Given the description of an element on the screen output the (x, y) to click on. 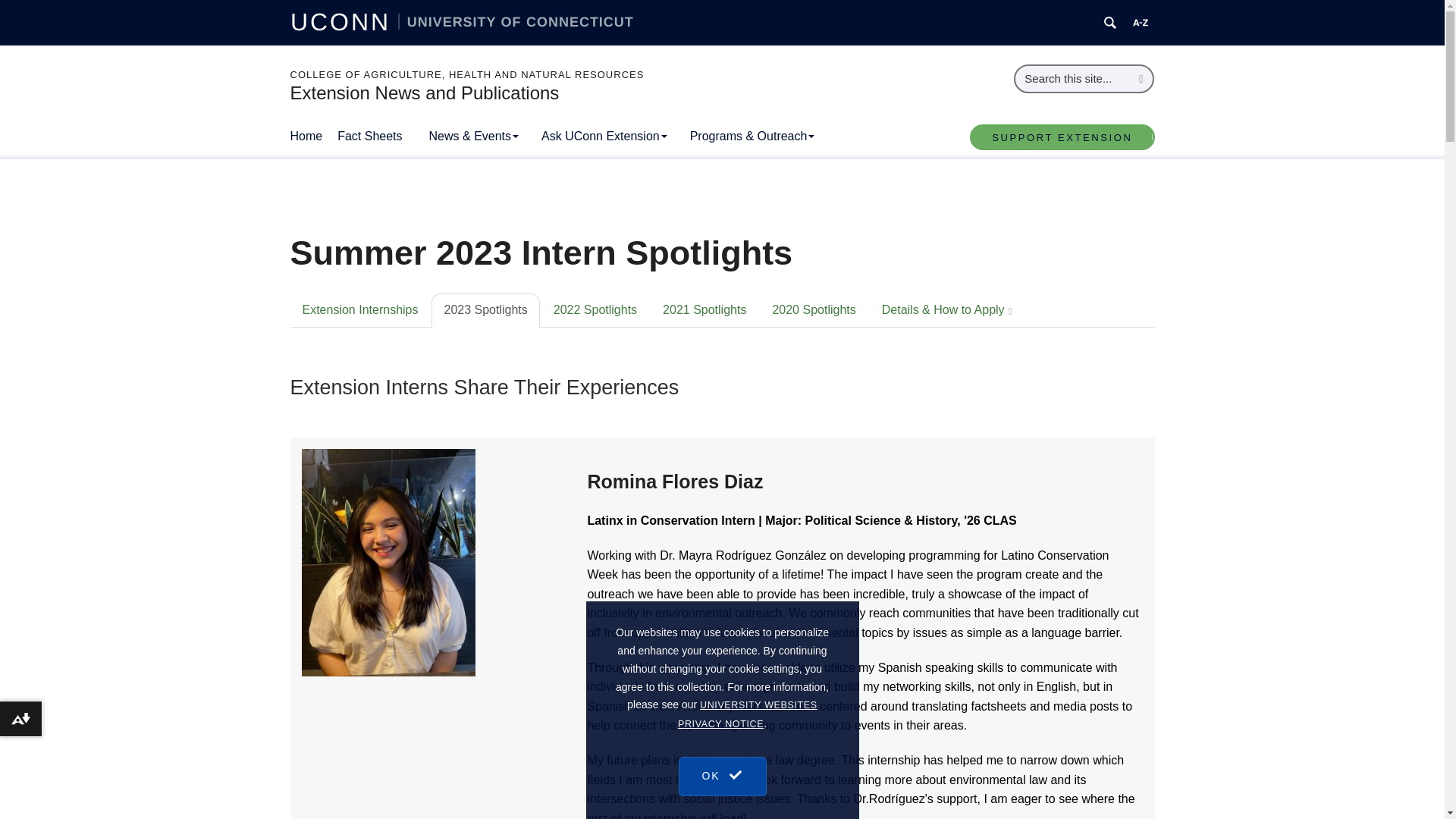
SUPPORT EXTENSION (1061, 136)
Extension Internships (359, 310)
Search this site...  (1071, 78)
UCONN (343, 21)
Ask UConn Extension (603, 136)
UConn A to Z Index (1140, 22)
2020 Spotlights (813, 310)
2023 Spotlights (484, 310)
Home (313, 136)
COLLEGE OF AGRICULTURE, HEALTH AND NATURAL RESOURCES (466, 74)
